Given the description of an element on the screen output the (x, y) to click on. 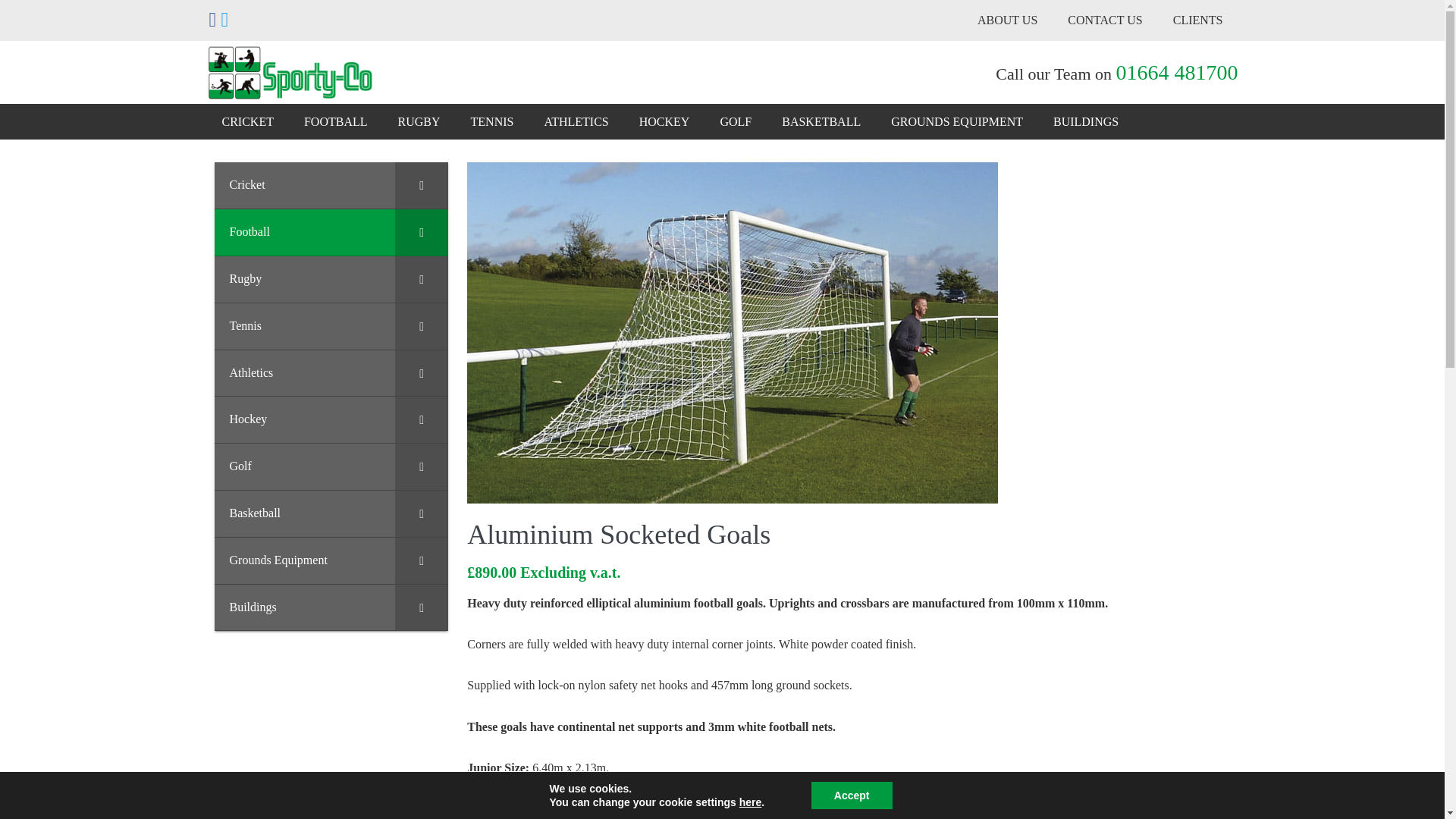
GROUNDS EQUIPMENT (957, 121)
ATHLETICS (575, 121)
BASKETBALL (821, 121)
CLIENTS (1198, 19)
TENNIS (492, 121)
CONTACT US (1104, 19)
GOLF (735, 121)
ABOUT US (1007, 19)
CRICKET (247, 121)
